Given the description of an element on the screen output the (x, y) to click on. 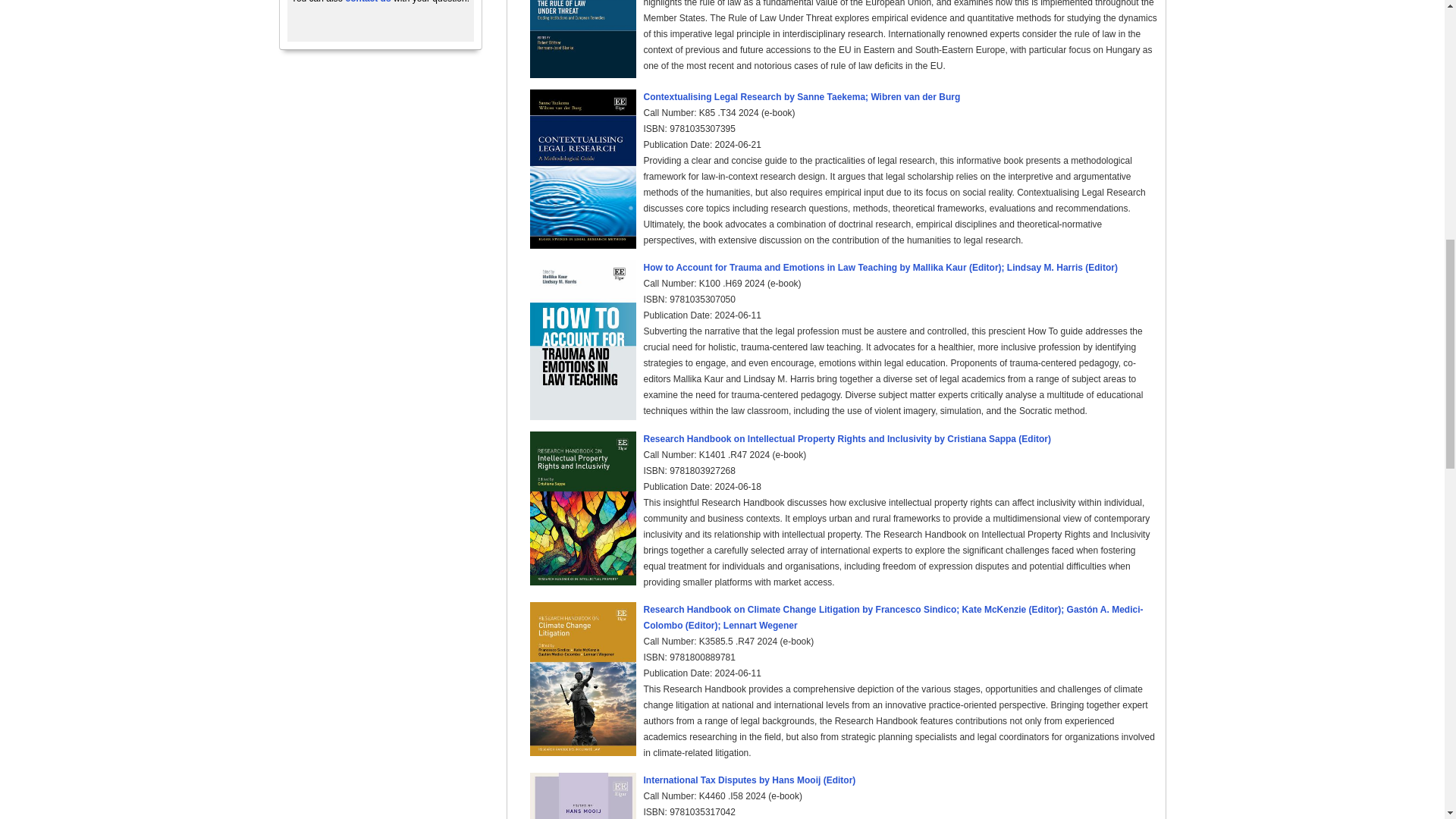
contact us (368, 2)
